Given the description of an element on the screen output the (x, y) to click on. 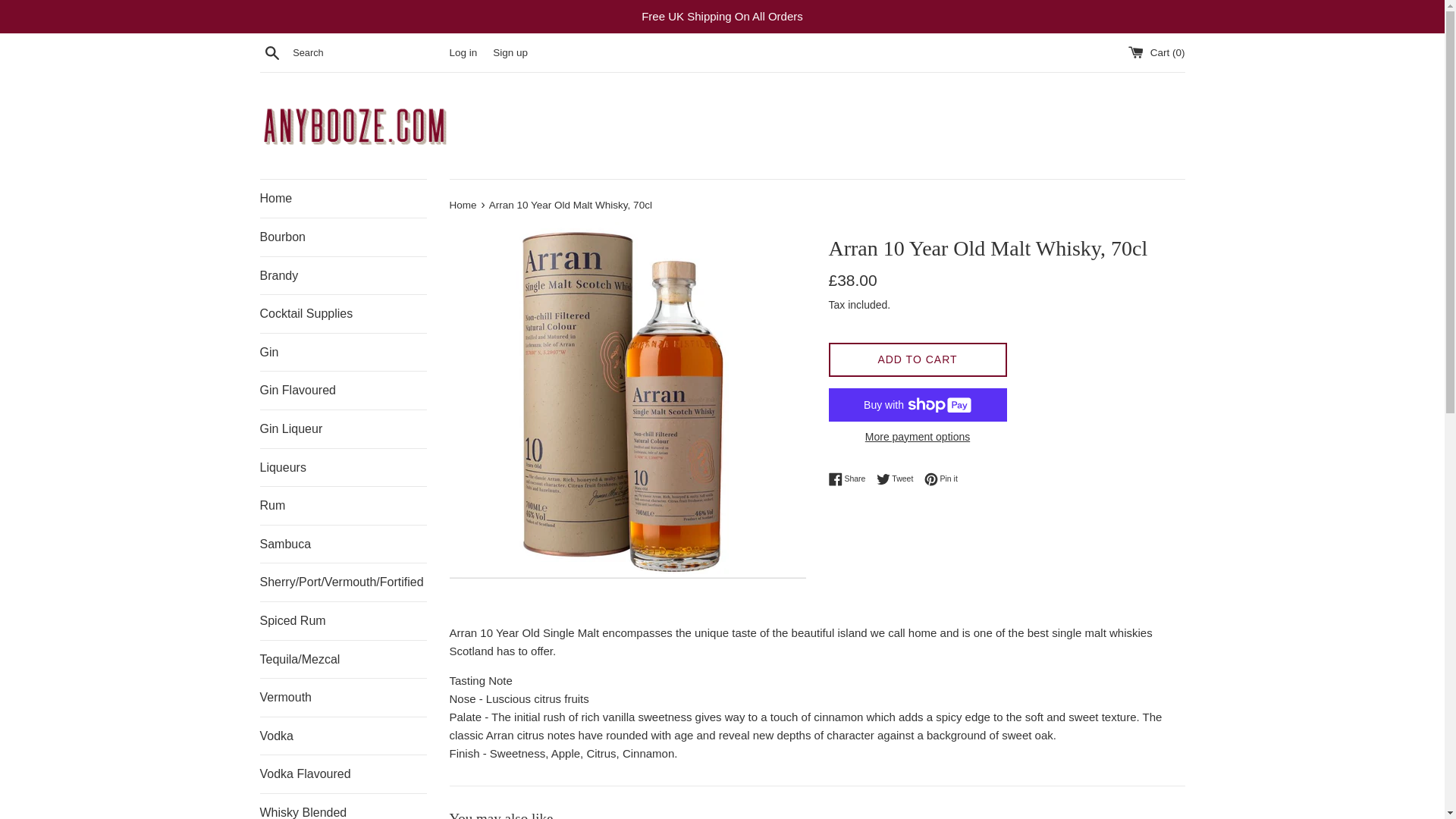
Gin Flavoured (342, 390)
Search (271, 52)
Vodka Flavoured (342, 774)
Tweet on Twitter (898, 479)
Brandy (342, 275)
Pin on Pinterest (941, 479)
Whisky Blended (342, 806)
Cocktail Supplies (342, 313)
Sambuca (342, 544)
Gin (342, 352)
Liqueurs (342, 467)
Vermouth (342, 697)
Spiced Rum (342, 620)
Bourbon (342, 237)
Vodka (342, 736)
